Given the description of an element on the screen output the (x, y) to click on. 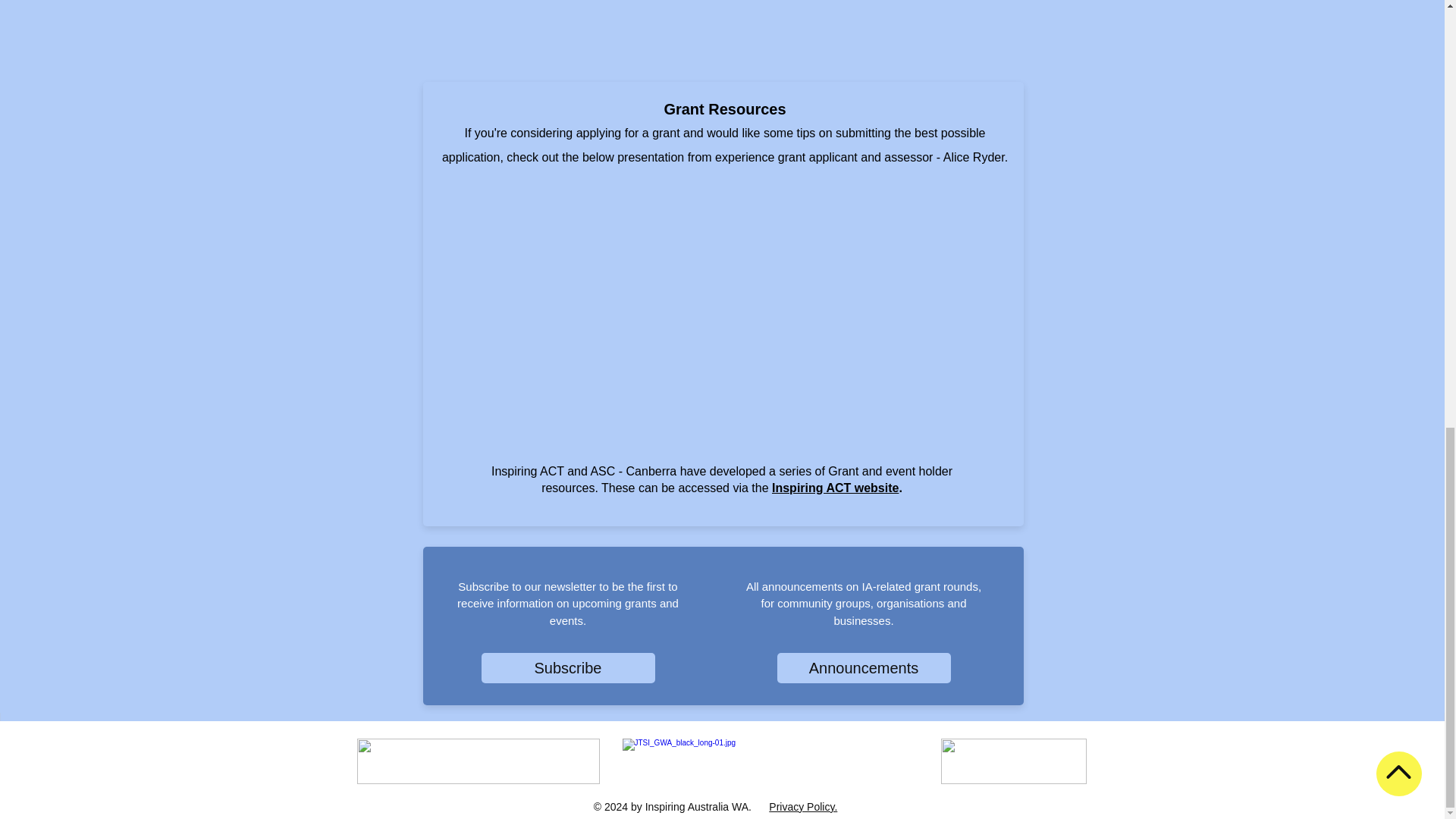
Subscribe (566, 667)
Scitech.png (1013, 760)
Department of JTSI.jpg (769, 760)
Announcements (863, 667)
Inspiring ACT website (834, 487)
